Given the description of an element on the screen output the (x, y) to click on. 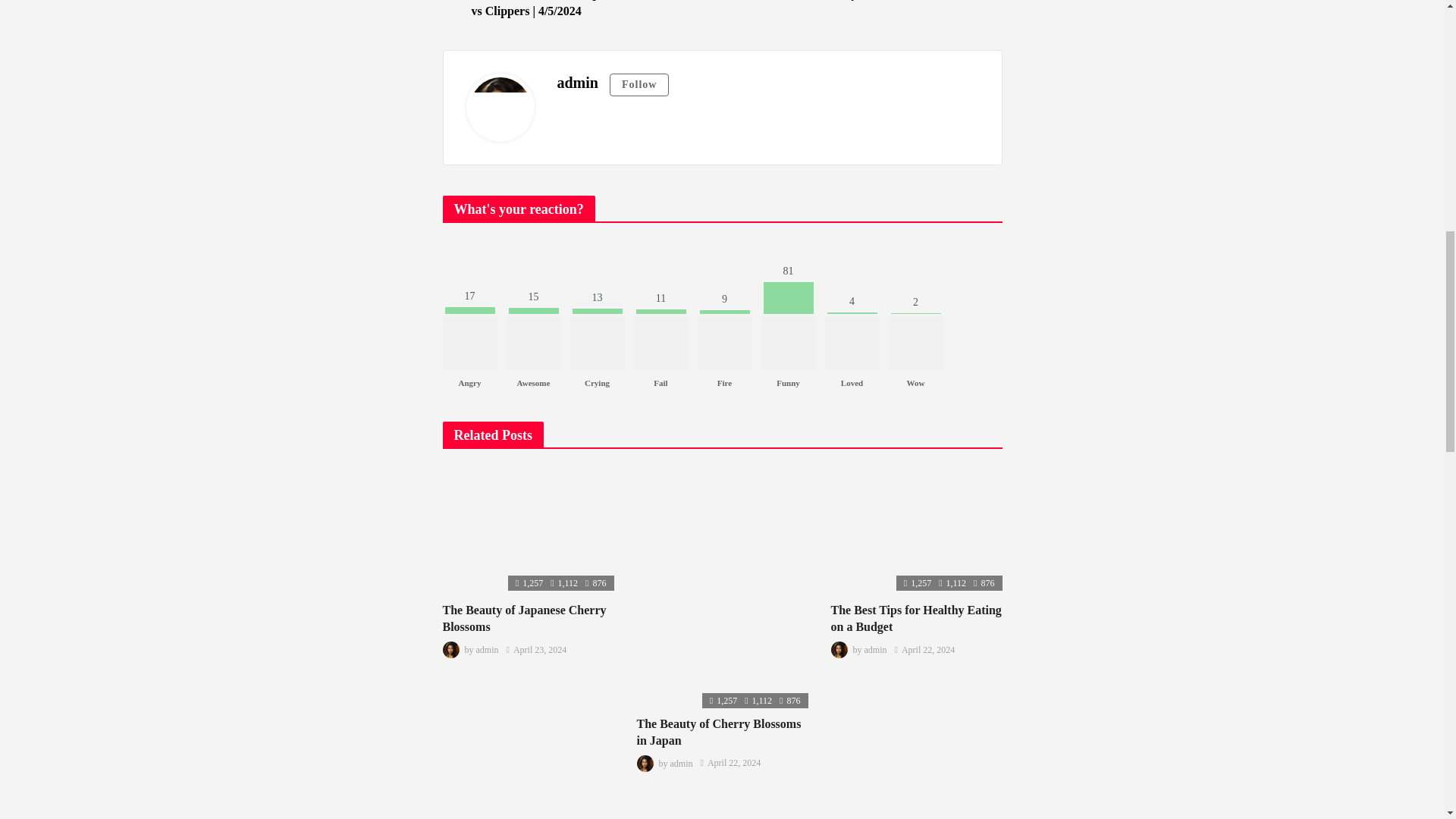
The Beauty of Cherry Blossoms in Japan (719, 731)
The Beauty of Japanese Cherry Blossoms (524, 618)
The Best Tips for Healthy Eating on a Budget (916, 618)
The Beauty of Japanese Cherry Blossoms (528, 528)
The Best Tips for Healthy Eating on a Budget (917, 528)
